Given the description of an element on the screen output the (x, y) to click on. 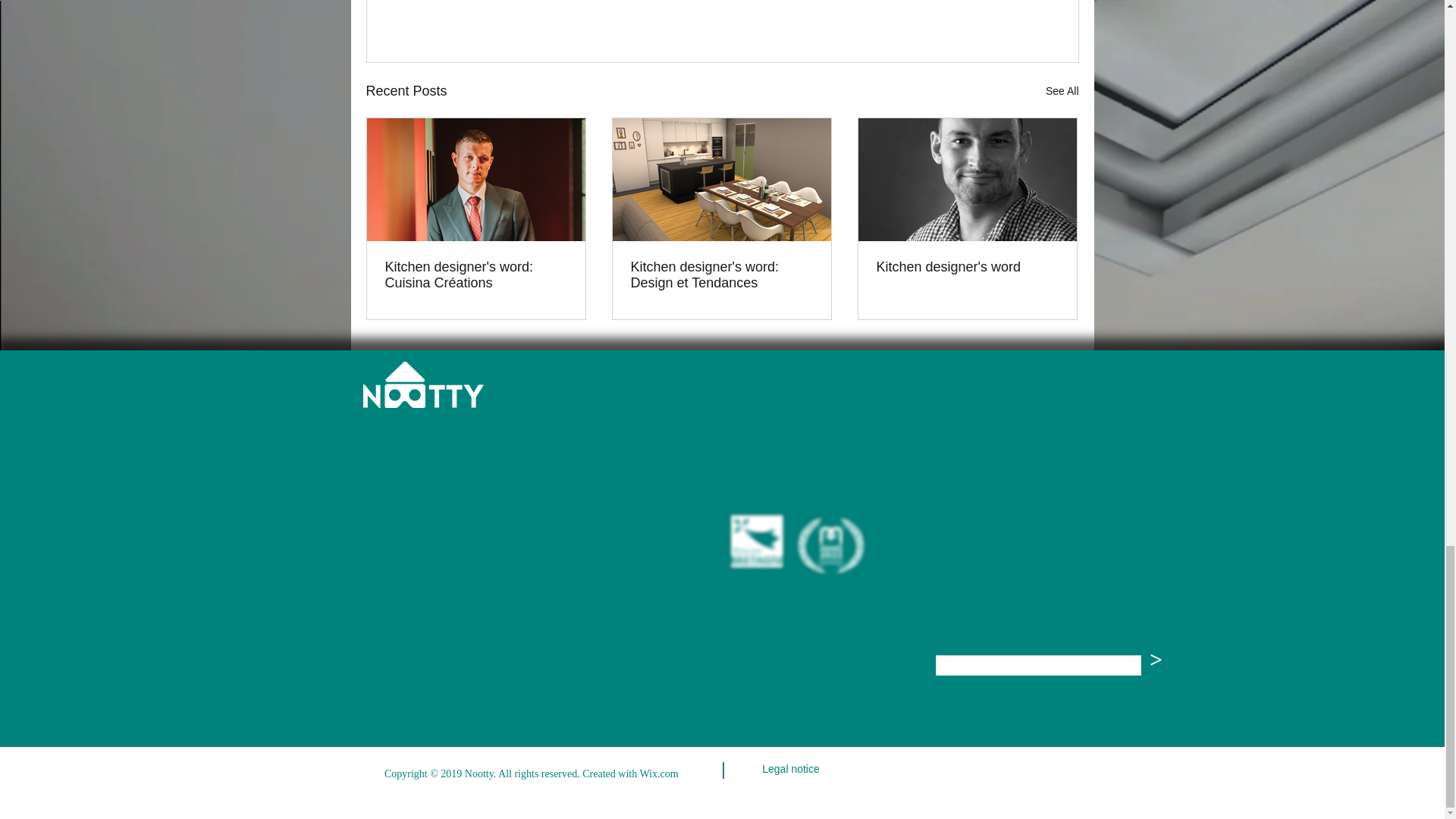
Kitchen designer's word: Design et Tendances (721, 275)
See All (1061, 91)
Legal notice (790, 769)
Kitchen designer's word (967, 267)
Wix.com  (660, 773)
